Given the description of an element on the screen output the (x, y) to click on. 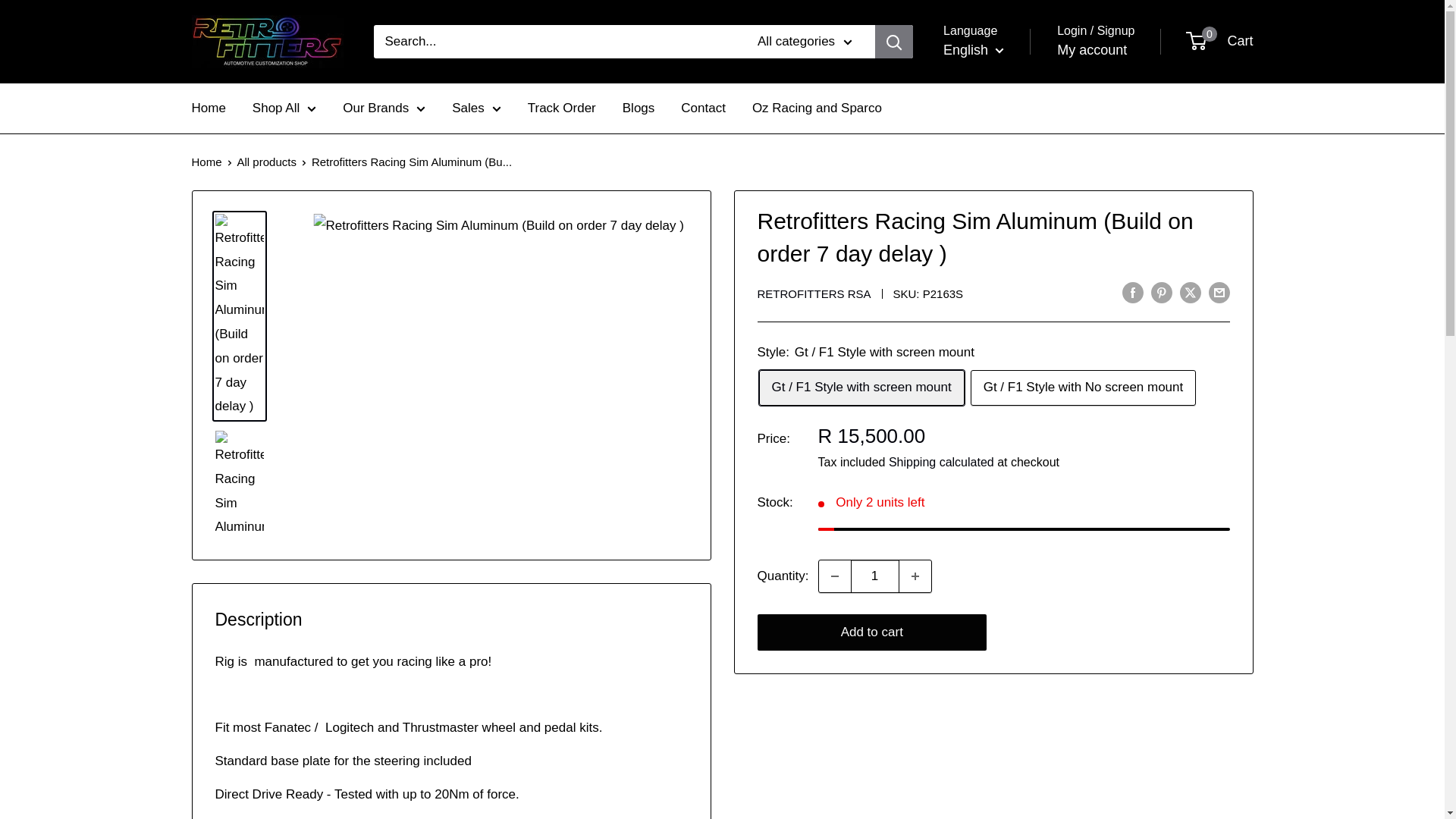
1 (874, 576)
Increase quantity by 1 (915, 576)
Decrease quantity by 1 (834, 576)
